Given the description of an element on the screen output the (x, y) to click on. 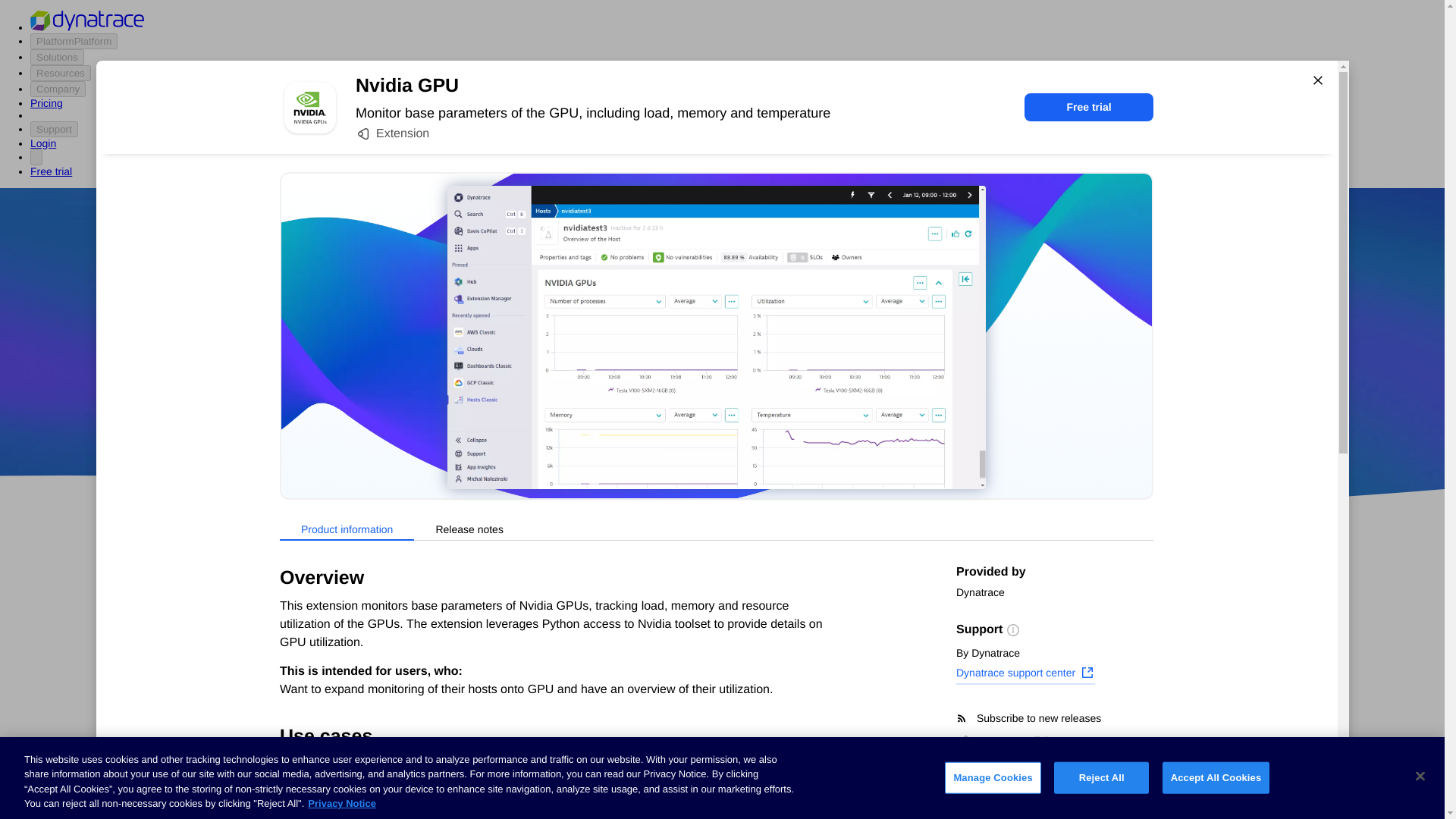
Istio Service Mesh (842, 723)
Kubernetes (295, 755)
Subscribe to new releases (1054, 718)
Hub home (291, 583)
Open source (903, 418)
Certified Partners (309, 612)
DevOps (829, 418)
WIPRO Holmes (606, 723)
Infrastructure Observability (335, 809)
Log Management and Analytics (345, 727)
AWS (637, 418)
Google Cloud (751, 418)
Free trial (1089, 107)
Wipro (840, 375)
Azure (681, 418)
